Given the description of an element on the screen output the (x, y) to click on. 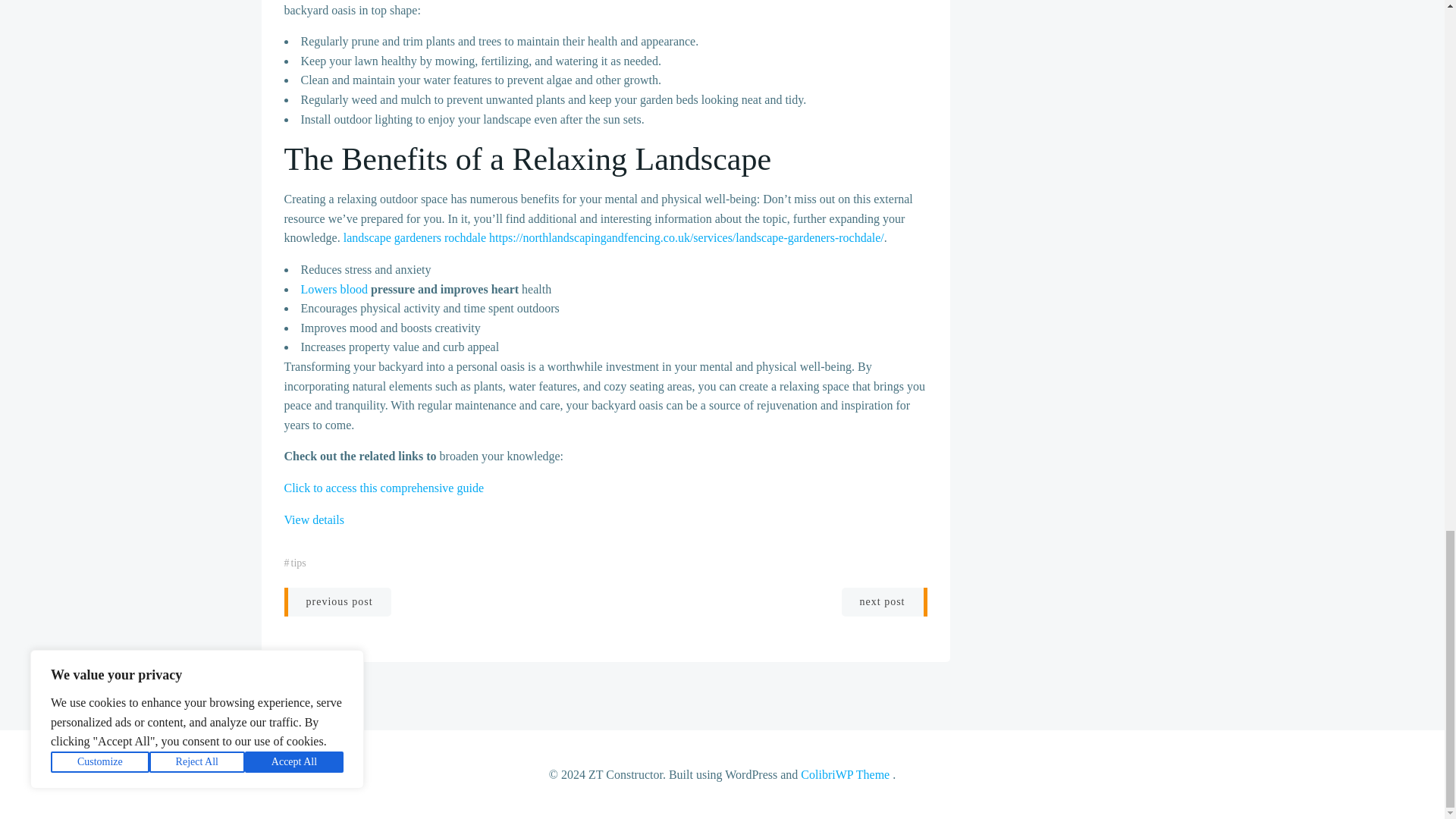
Tag: Tips (298, 562)
next post (884, 602)
previous post (336, 602)
View details (313, 519)
Click to access this comprehensive guide (383, 487)
Lowers blood (332, 288)
tips (298, 562)
